Given the description of an element on the screen output the (x, y) to click on. 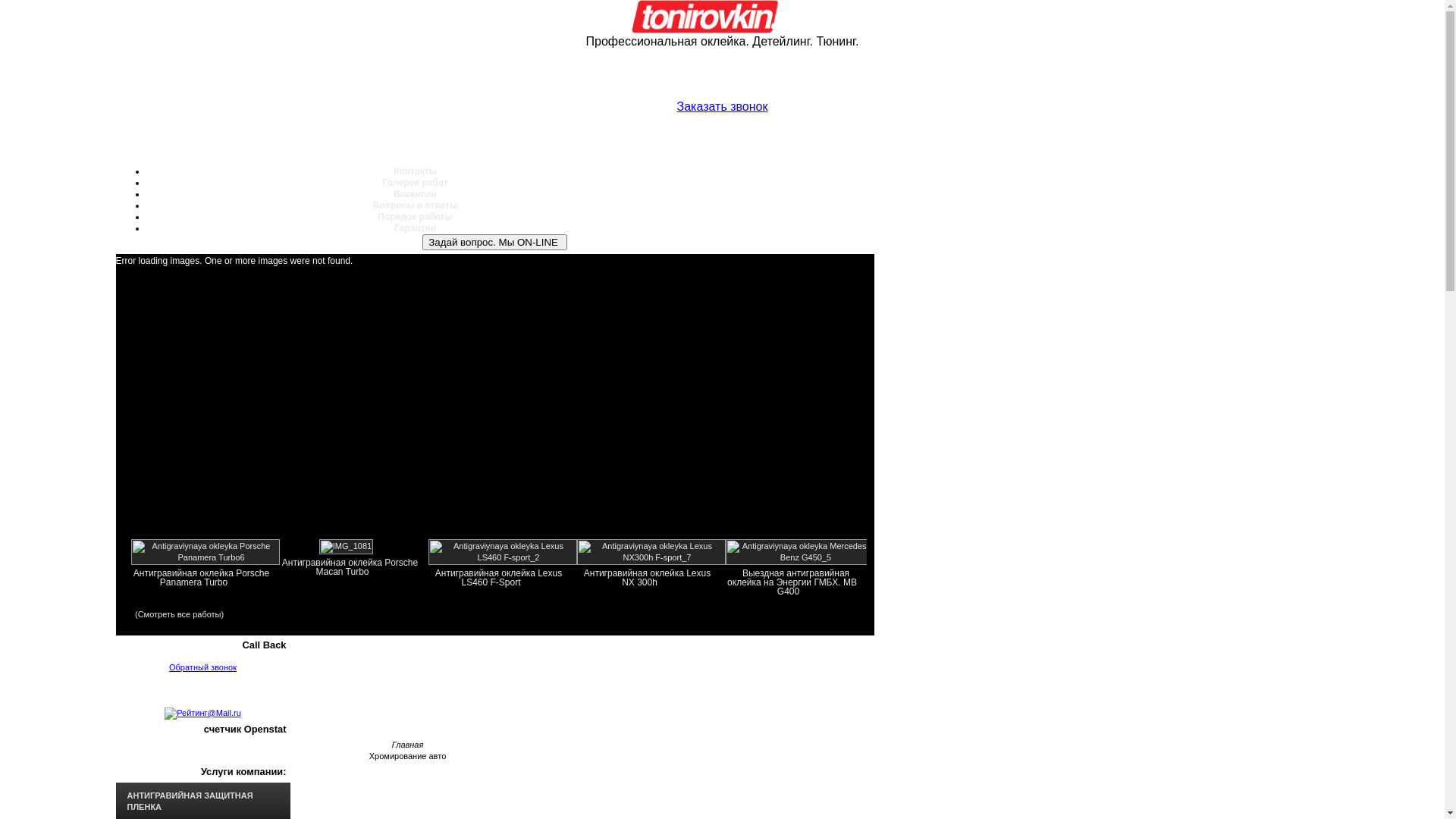
Antigraviynaya okleyka Mercedes-Benz G450_5 Element type: hover (799, 556)
IMG_1081 Element type: hover (345, 545)
Antigraviynaya okleyka Porsche Panamera Turbo6 Element type: hover (204, 556)
Antigraviynaya okleyka Lexus NX300h F-sport_7 Element type: hover (650, 556)
Antigraviynaya okleyka Lexus LS460 F-sport_2 Element type: hover (501, 556)
